Given the description of an element on the screen output the (x, y) to click on. 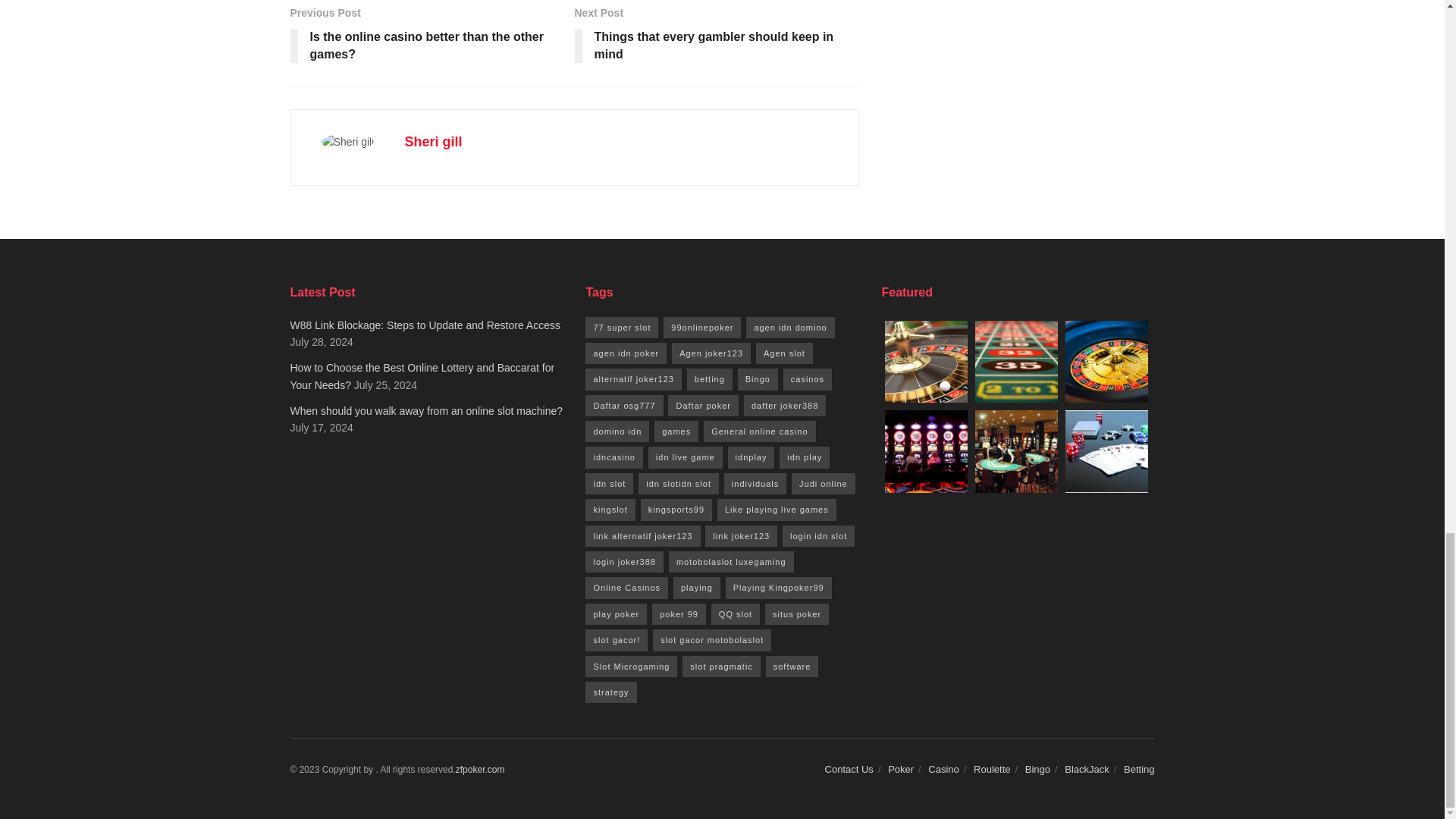
Jegtheme (480, 769)
Sheri gill (717, 37)
